Given the description of an element on the screen output the (x, y) to click on. 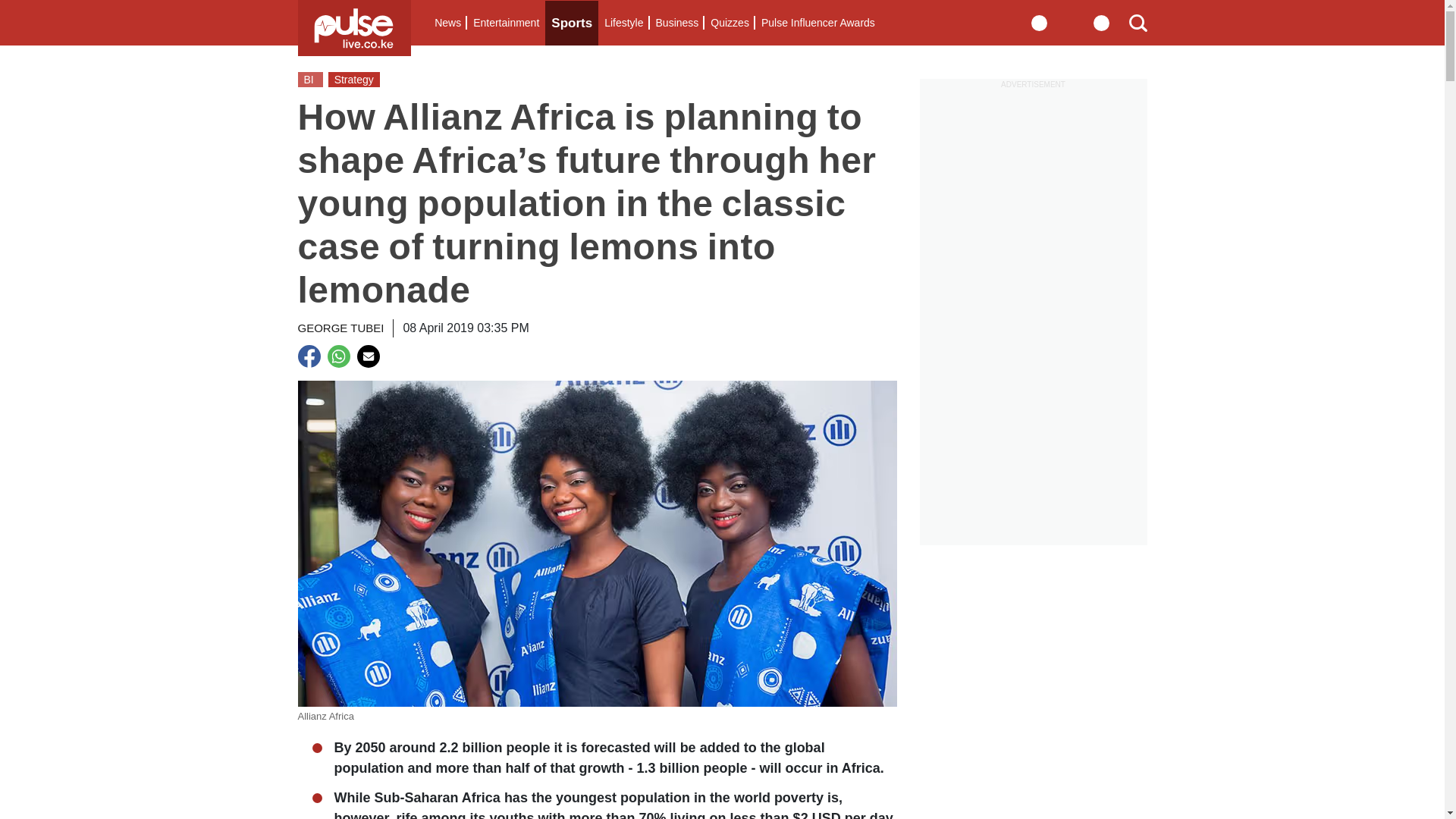
Pulse Influencer Awards (817, 22)
Business (676, 22)
Sports (571, 22)
Lifestyle (623, 22)
Quizzes (729, 22)
Entertainment (505, 22)
